Given the description of an element on the screen output the (x, y) to click on. 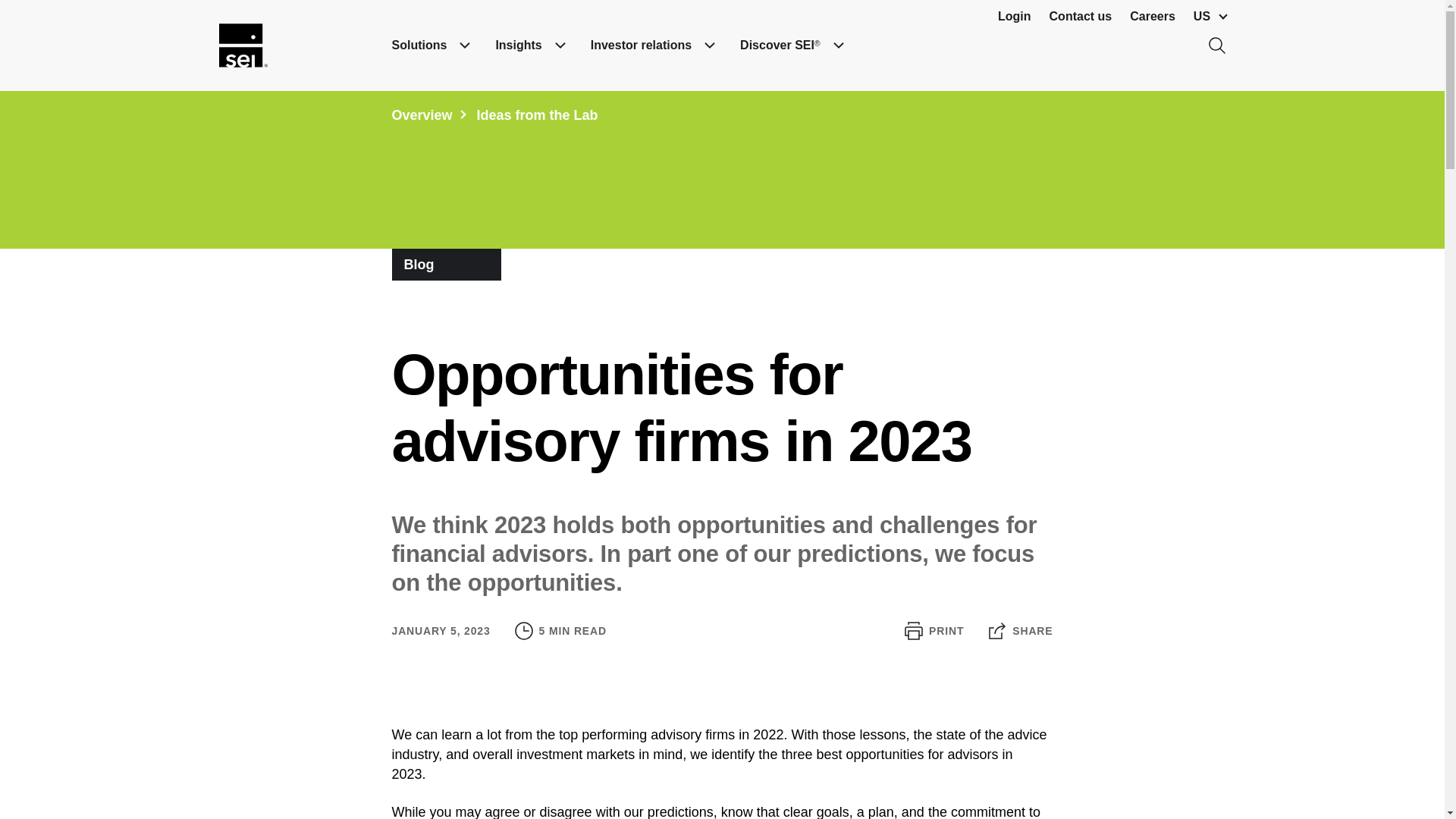
Solutions (434, 45)
Investor relations (656, 45)
Insights (533, 45)
